Given the description of an element on the screen output the (x, y) to click on. 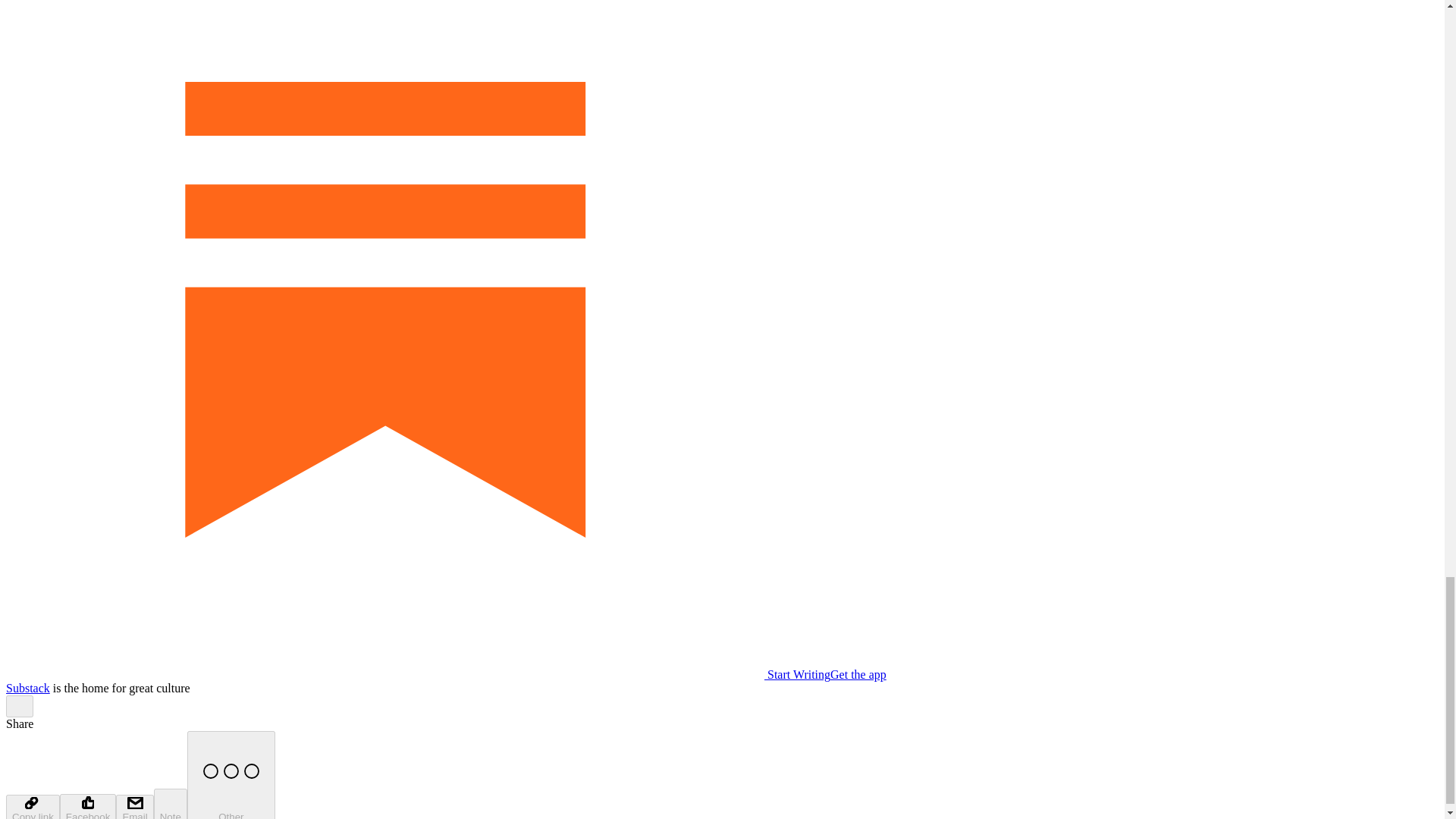
Start Writing (417, 674)
